Given the description of an element on the screen output the (x, y) to click on. 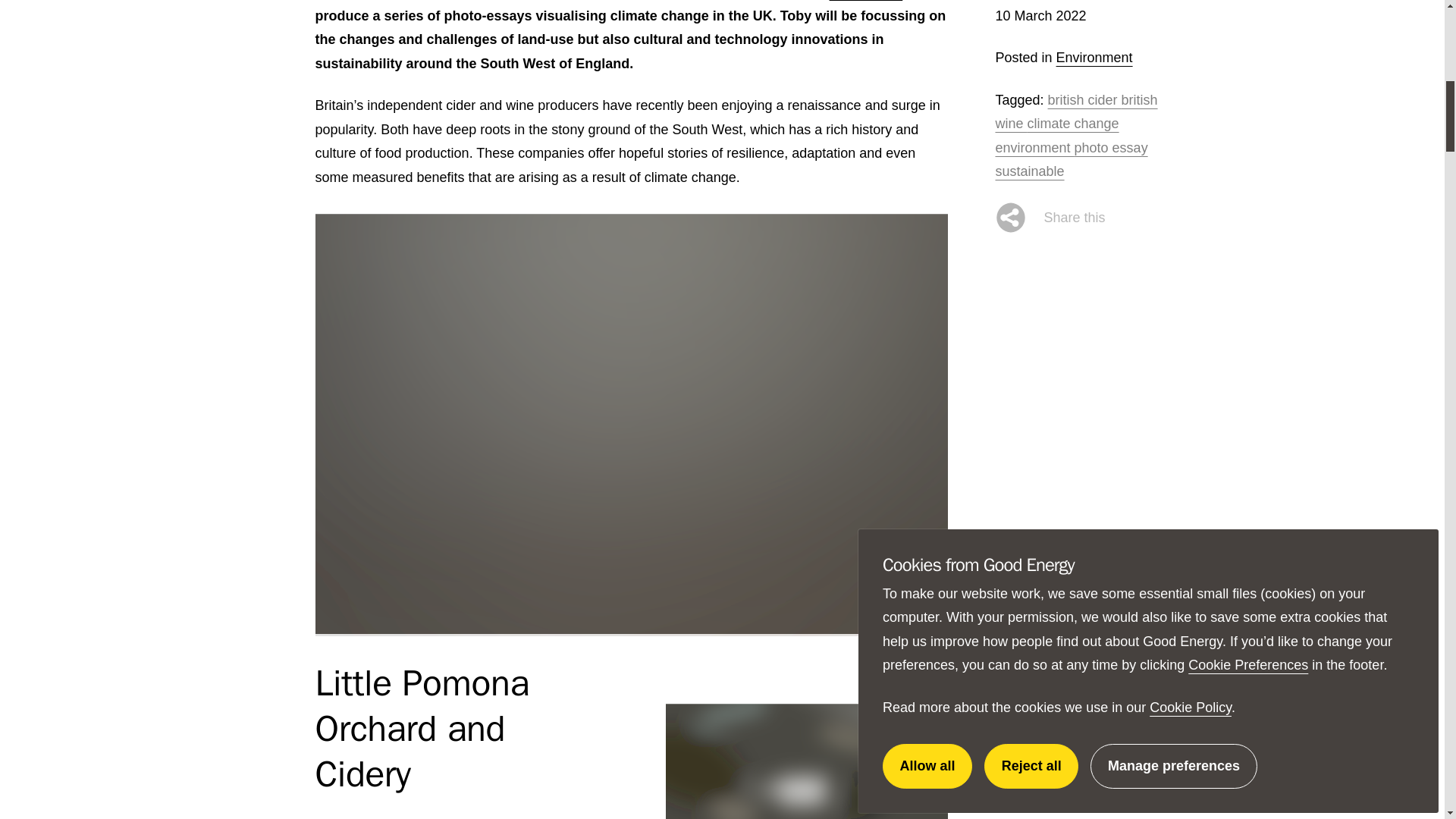
sustainable (1029, 171)
Share this (1049, 217)
climate change (1073, 123)
photo essay (1111, 147)
environment (1034, 147)
british wine (1075, 111)
british cider (1084, 99)
Environment (1094, 57)
